Given the description of an element on the screen output the (x, y) to click on. 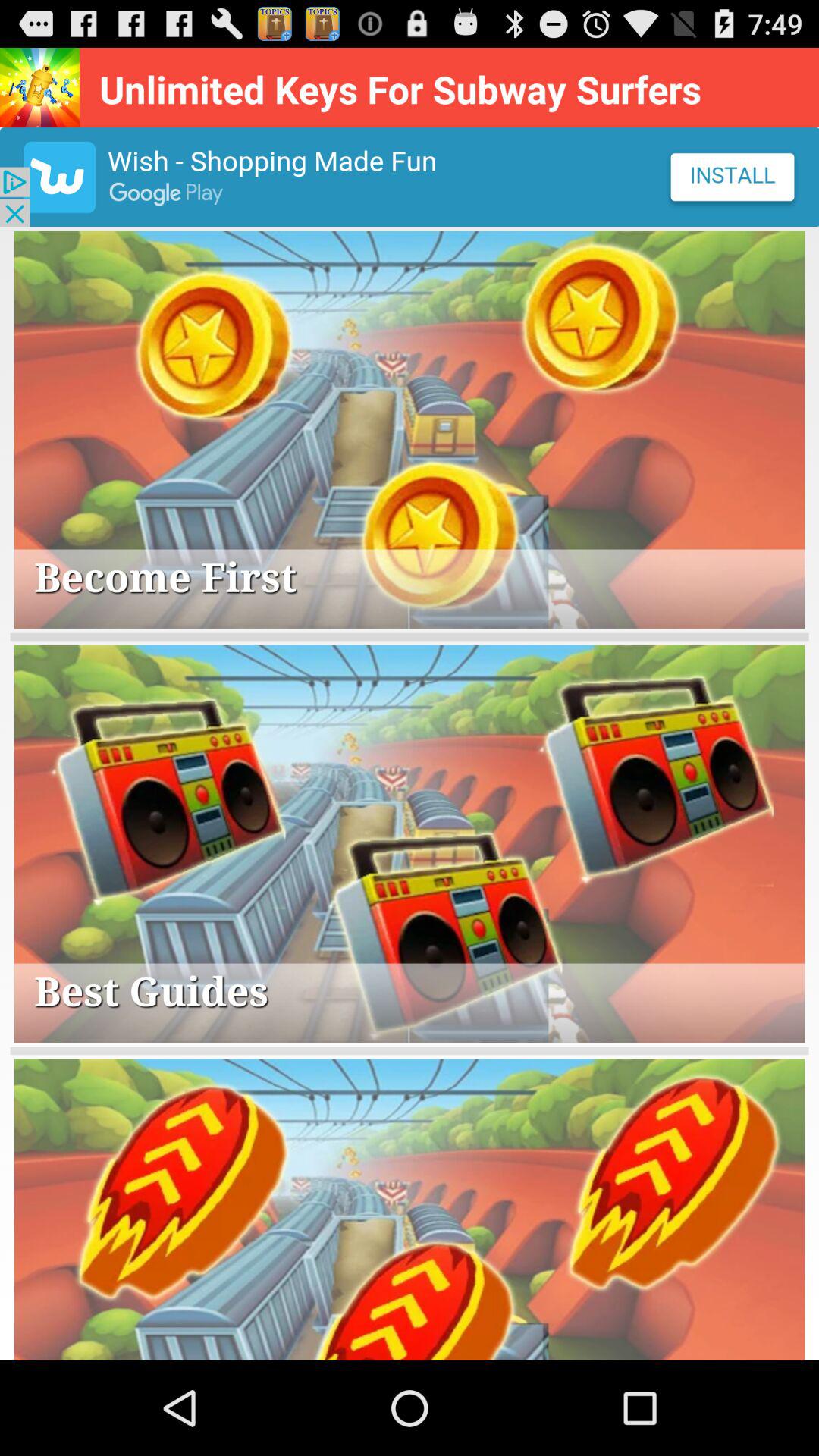
advertisement area (409, 176)
